Given the description of an element on the screen output the (x, y) to click on. 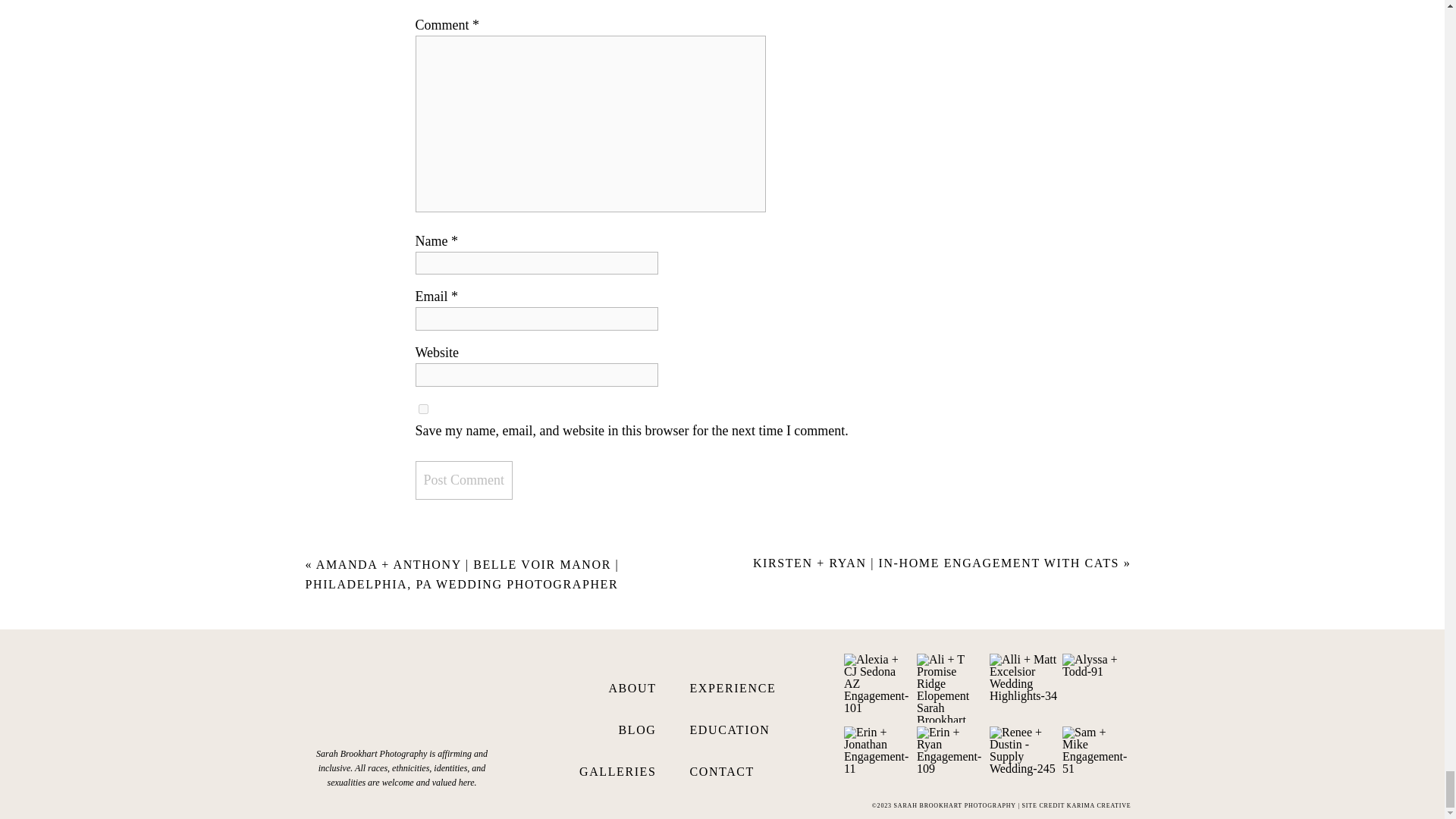
ABOUT (624, 686)
EDUCATION (743, 728)
EXPERIENCE (743, 686)
GALLERIES (606, 770)
yes (423, 409)
Post Comment (463, 480)
Post Comment (463, 480)
BLOG (624, 728)
CONTACT (743, 770)
